Given the description of an element on the screen output the (x, y) to click on. 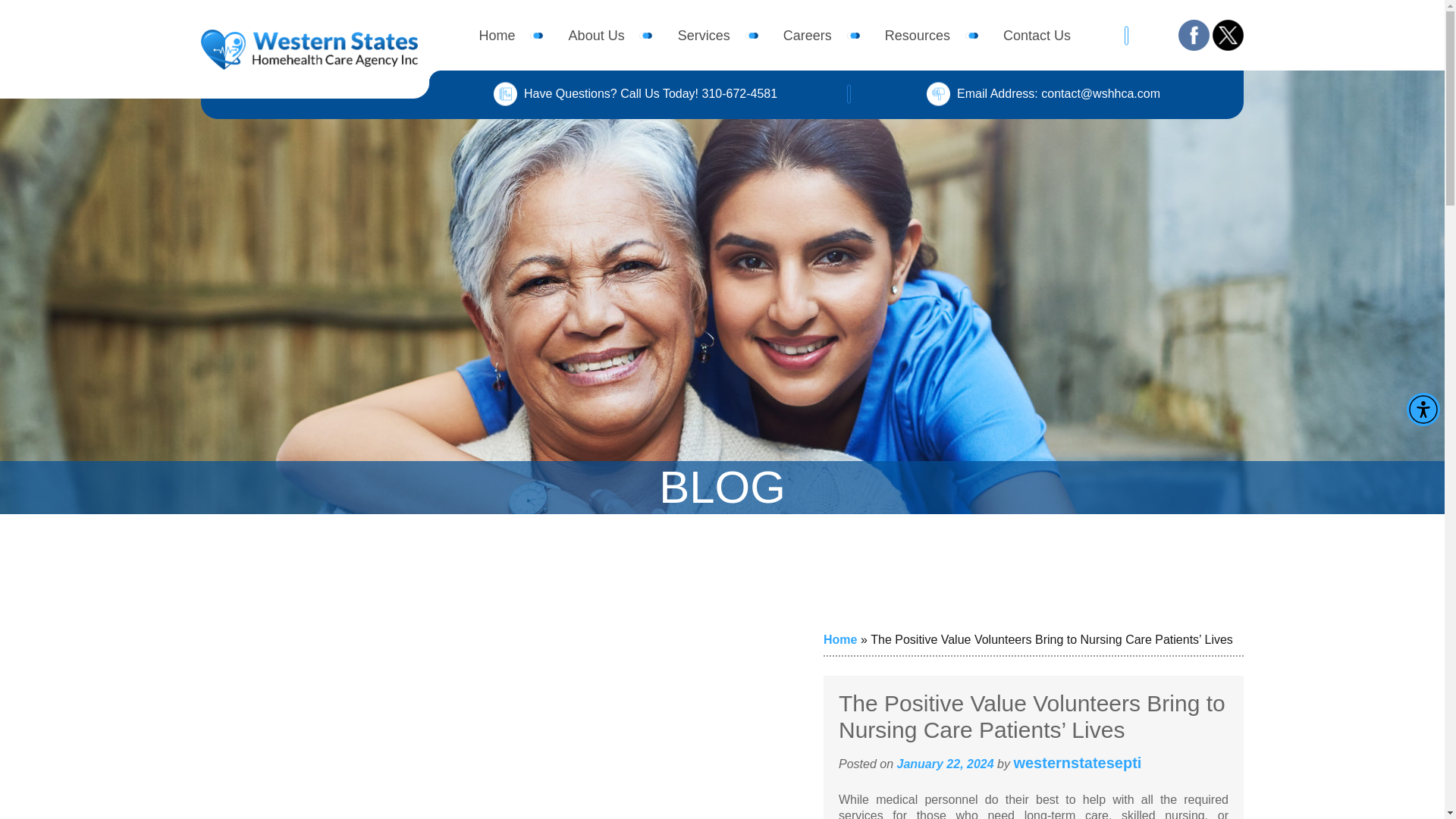
Contact Us (1036, 35)
8:07 am (945, 764)
January 22, 2024 (945, 764)
westernstatesepti (1077, 762)
About Us (596, 35)
Accessibility Menu (1422, 409)
Home (840, 639)
View all posts by westernstatesepti (1077, 762)
Careers (807, 35)
310-672-4581 (739, 92)
Services (704, 35)
Resources (917, 35)
